Given the description of an element on the screen output the (x, y) to click on. 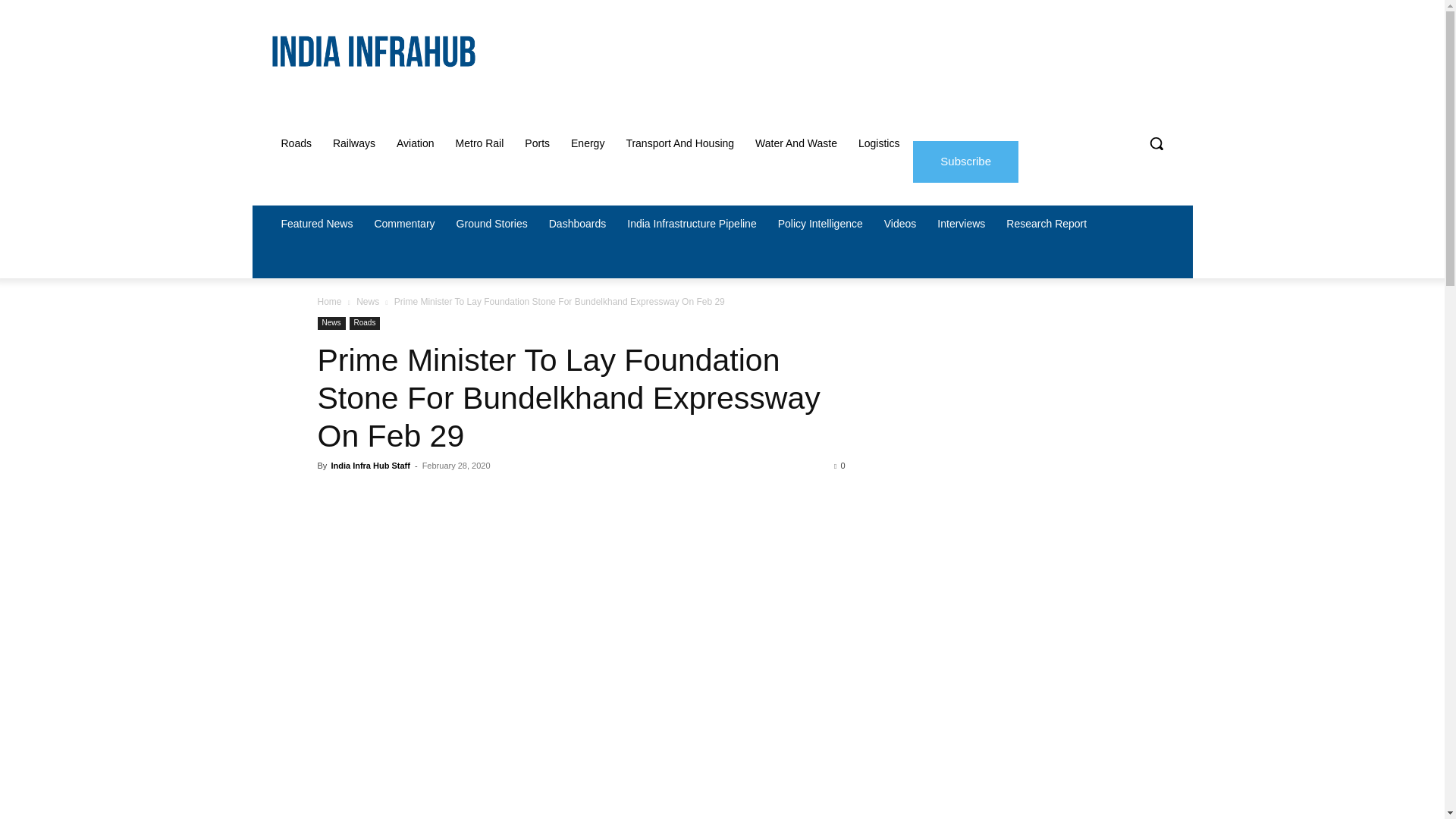
Logistics (878, 143)
Dashboards (577, 223)
Ports (536, 143)
Featured News (315, 223)
Commentary (403, 223)
Water And Waste (795, 143)
Energy (587, 143)
Aviation (415, 143)
Metro Rail (480, 143)
Railways (353, 143)
